Given the description of an element on the screen output the (x, y) to click on. 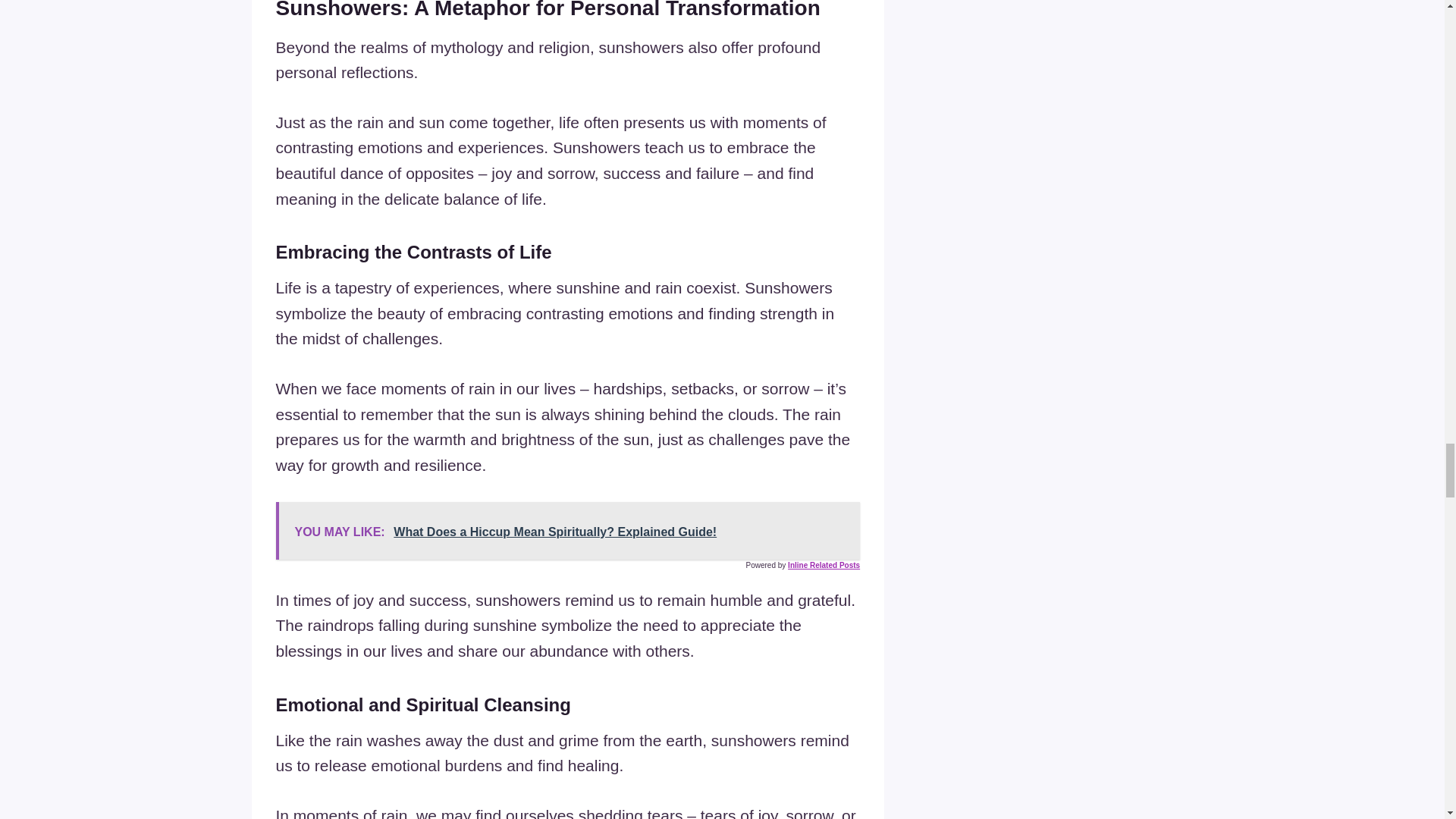
Inline Related Posts (823, 565)
